Given the description of an element on the screen output the (x, y) to click on. 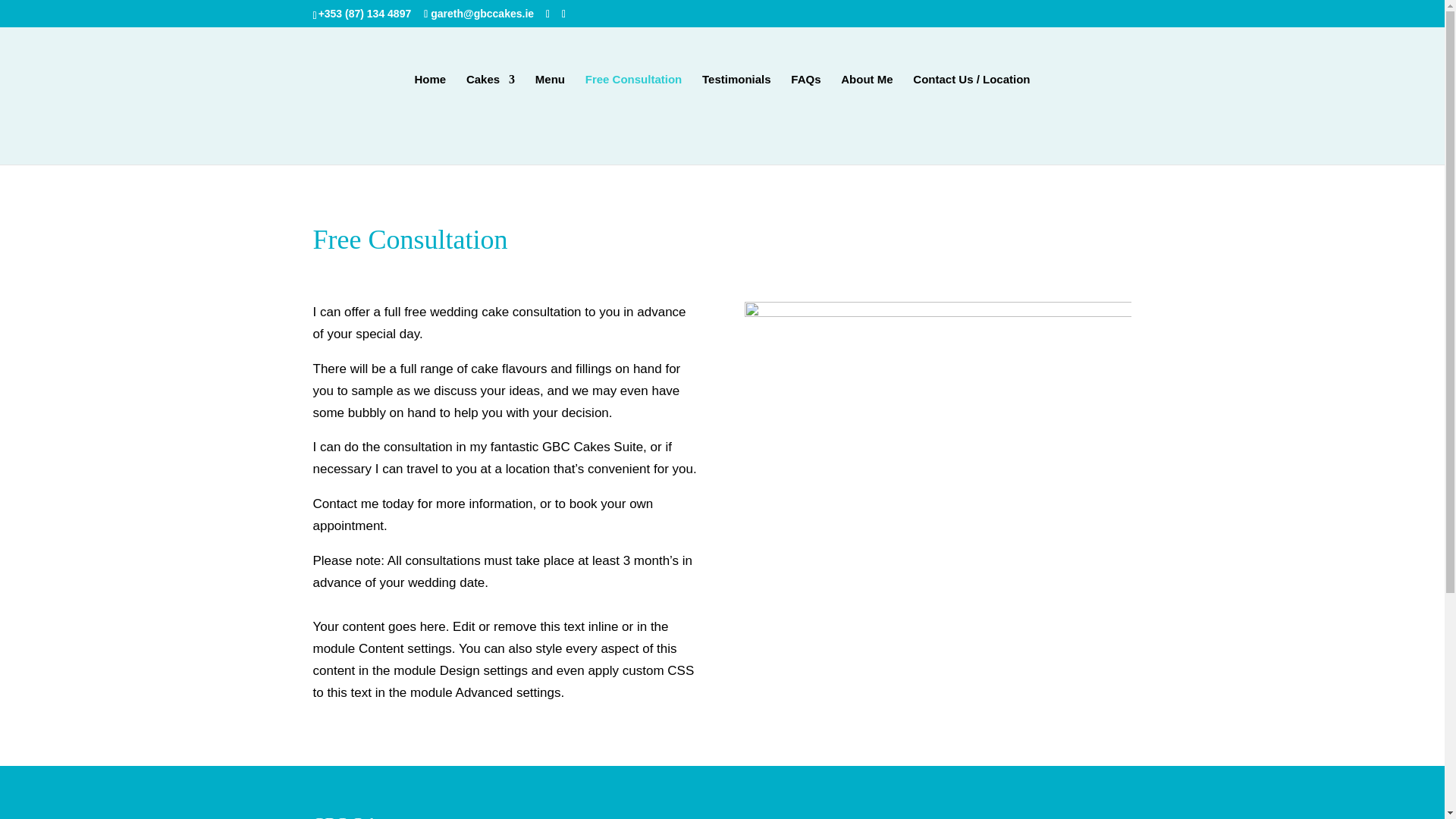
Home (429, 119)
Testimonials (736, 119)
Cakes (490, 119)
Menu (549, 119)
Free Consultation (633, 119)
About Me (866, 119)
FAQs (805, 119)
